Given the description of an element on the screen output the (x, y) to click on. 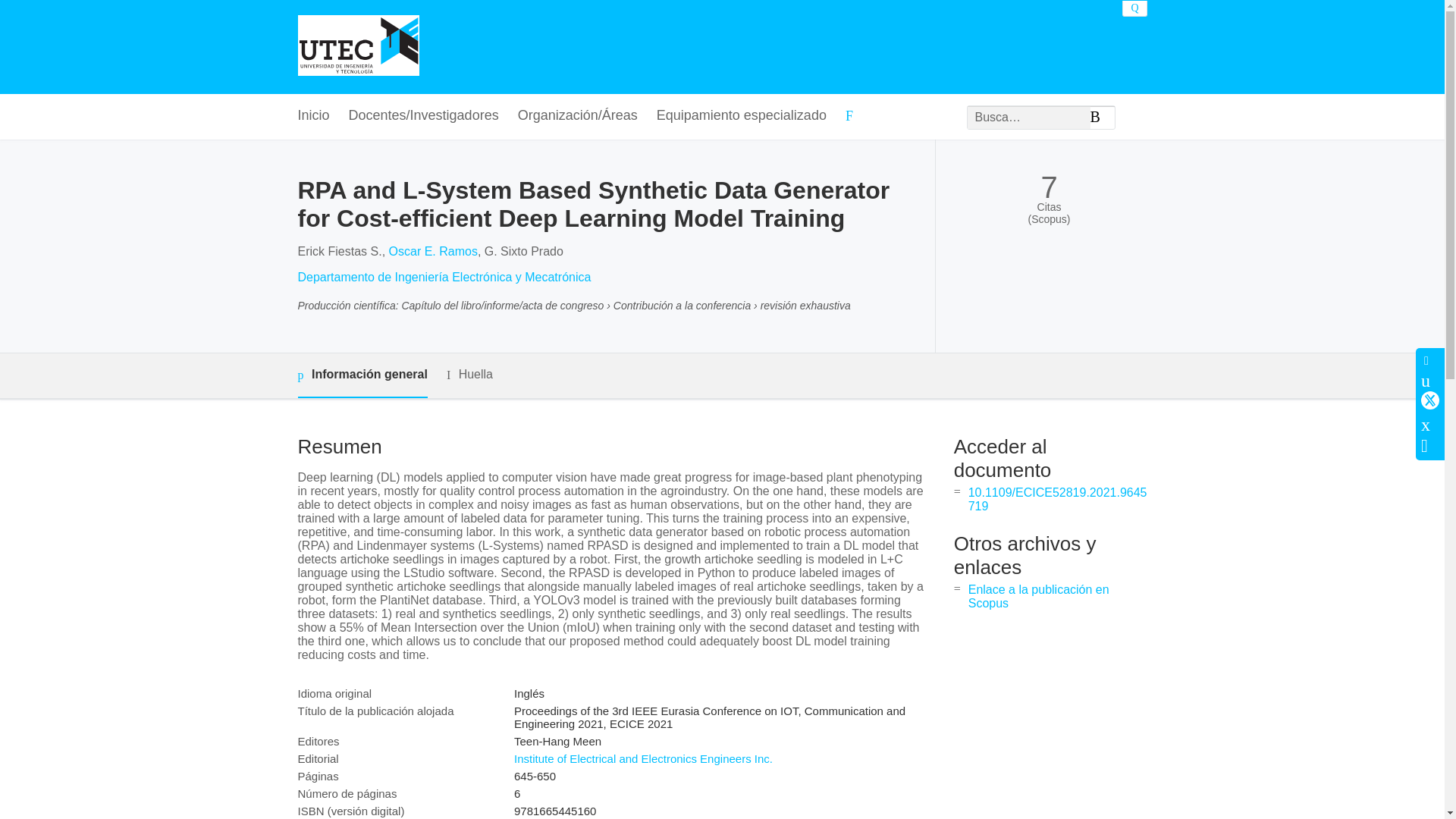
Institute of Electrical and Electronics Engineers Inc. (643, 758)
Huella (469, 374)
Oscar E. Ramos (432, 250)
Equipamiento especializado (741, 116)
